Given the description of an element on the screen output the (x, y) to click on. 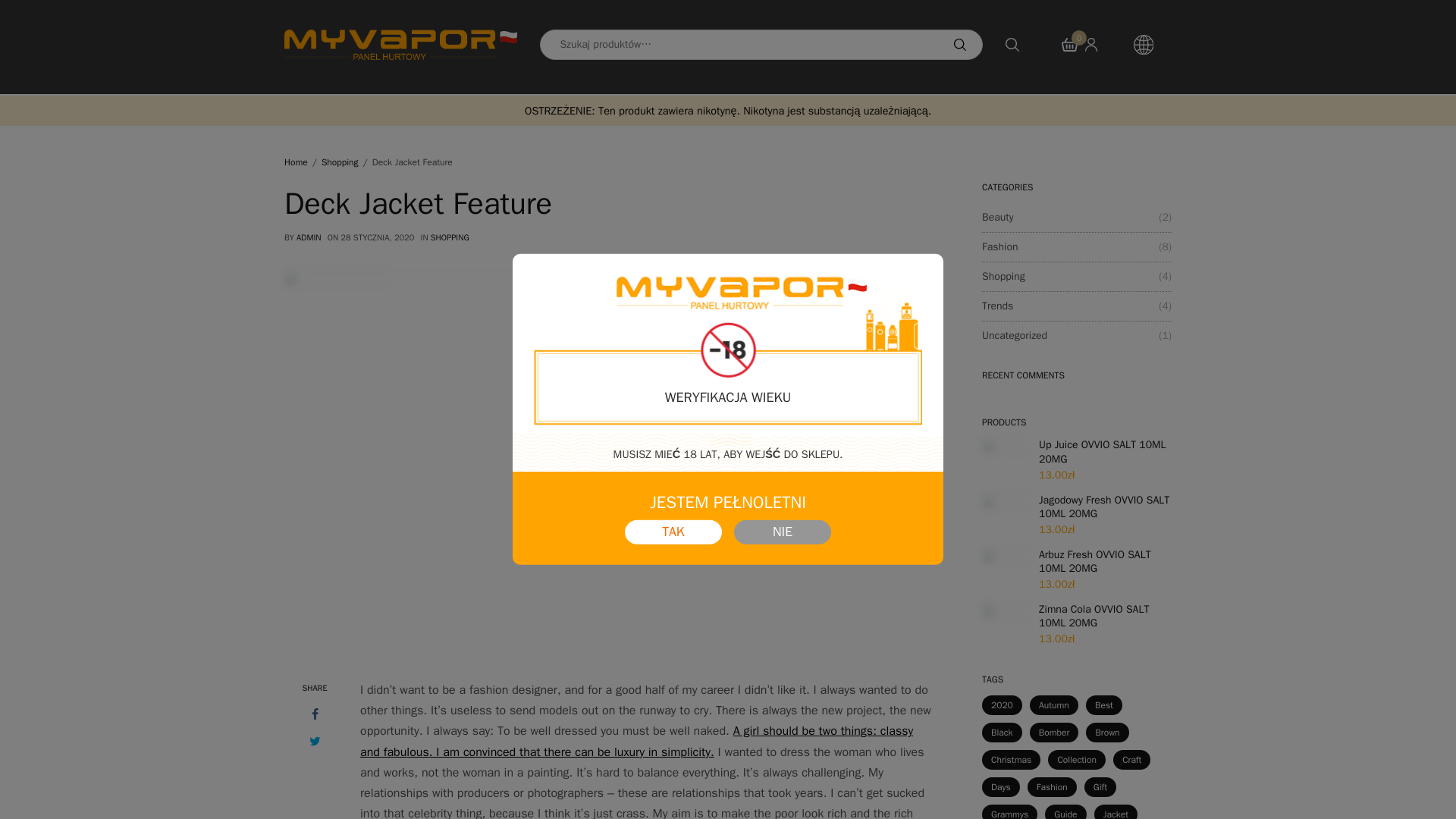
Home (295, 161)
Wpisy od admin (309, 237)
Shopping (339, 161)
Moje konto (1102, 44)
ADMIN (309, 237)
SHOPPING (449, 237)
Szukaj (959, 44)
Myvapor (399, 44)
NIE (782, 532)
TAK (673, 532)
Szukaj (983, 93)
lingua (1153, 44)
